Given the description of an element on the screen output the (x, y) to click on. 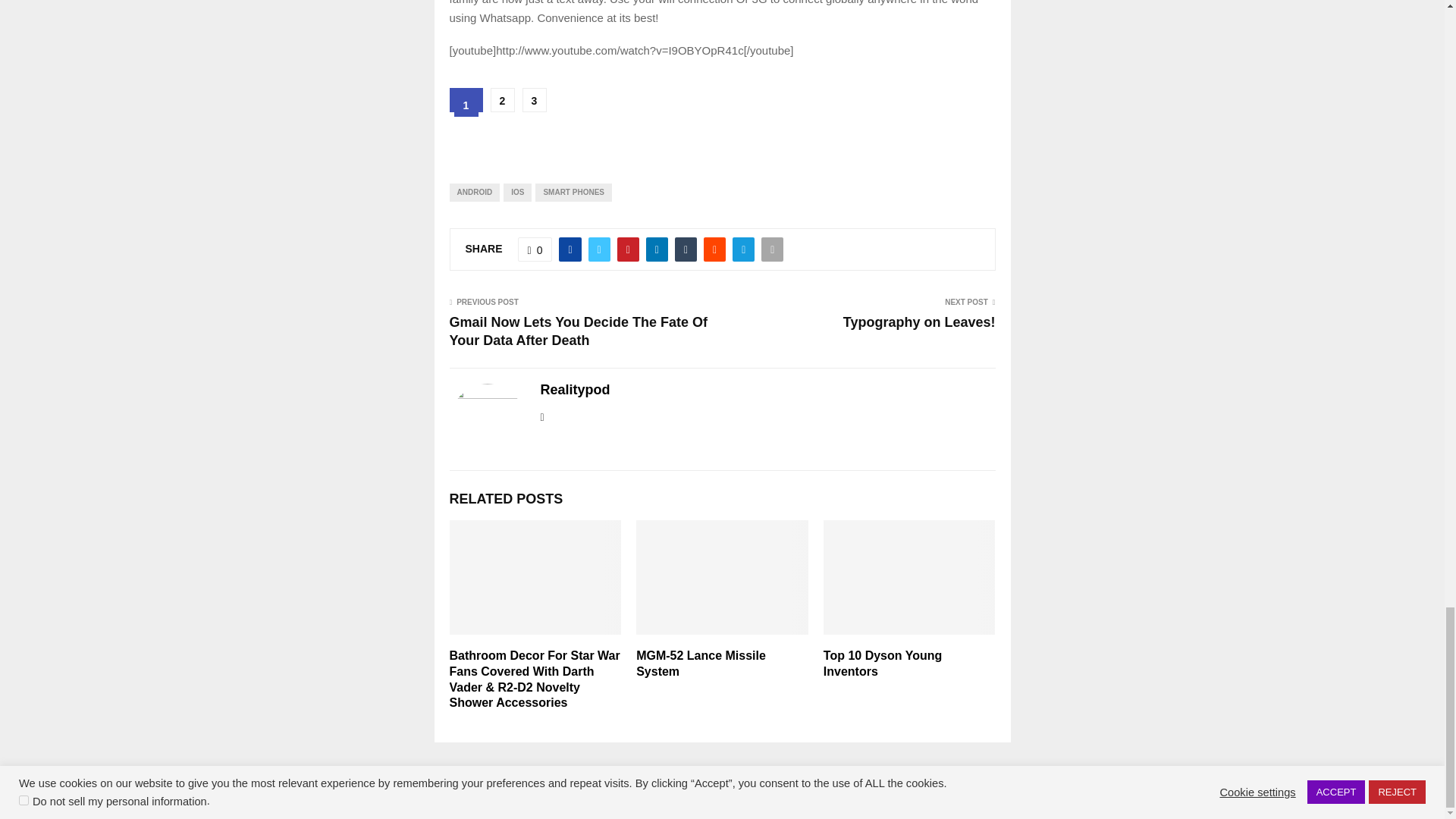
Like (535, 249)
